Given the description of an element on the screen output the (x, y) to click on. 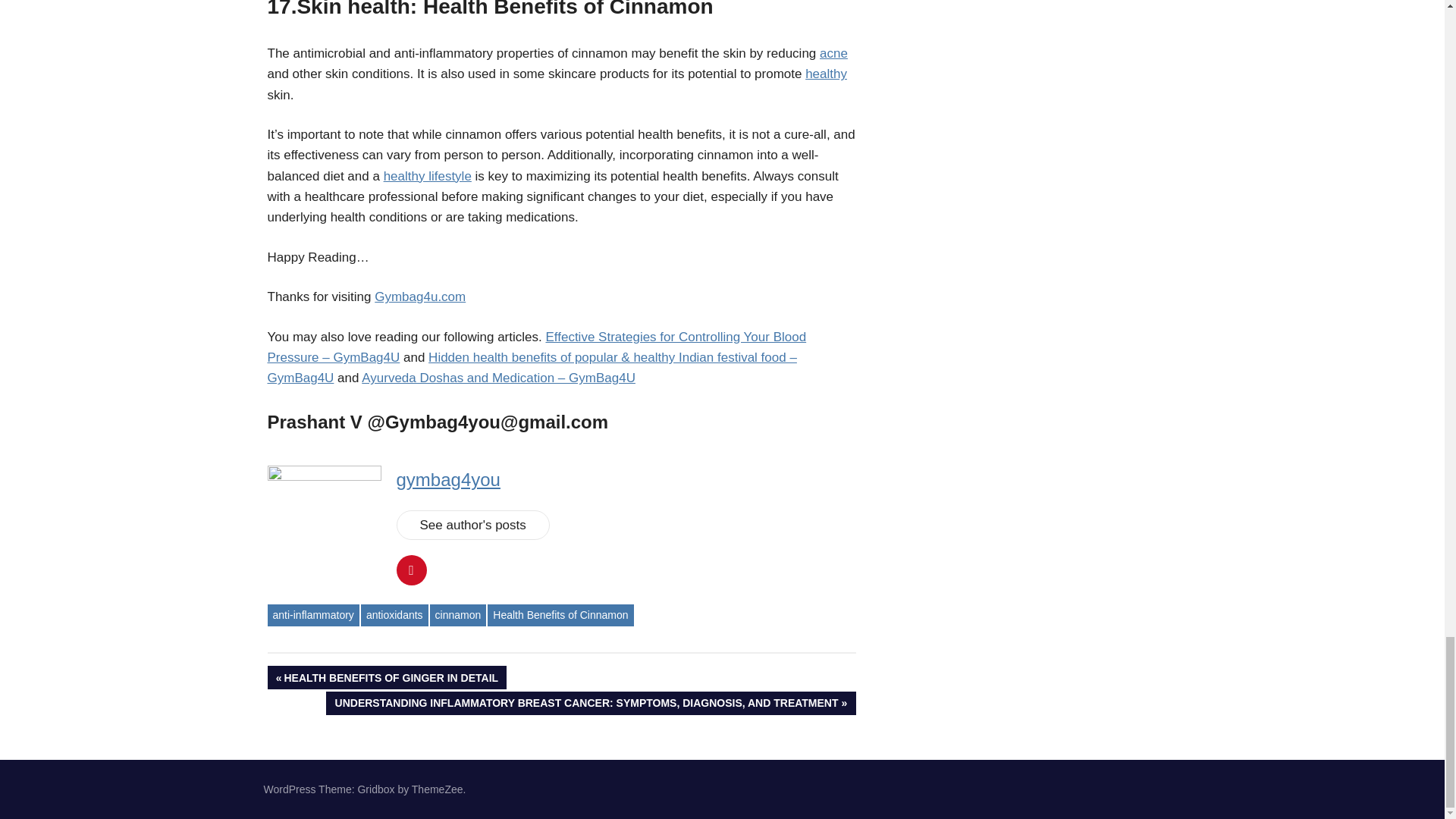
acne (833, 52)
cinnamon (457, 615)
healthy lifestyle (386, 677)
anti-inflammatory (427, 175)
Health Benefits of Cinnamon (312, 615)
antioxidants (560, 615)
healthy (394, 615)
gymbag4you (826, 73)
